Given the description of an element on the screen output the (x, y) to click on. 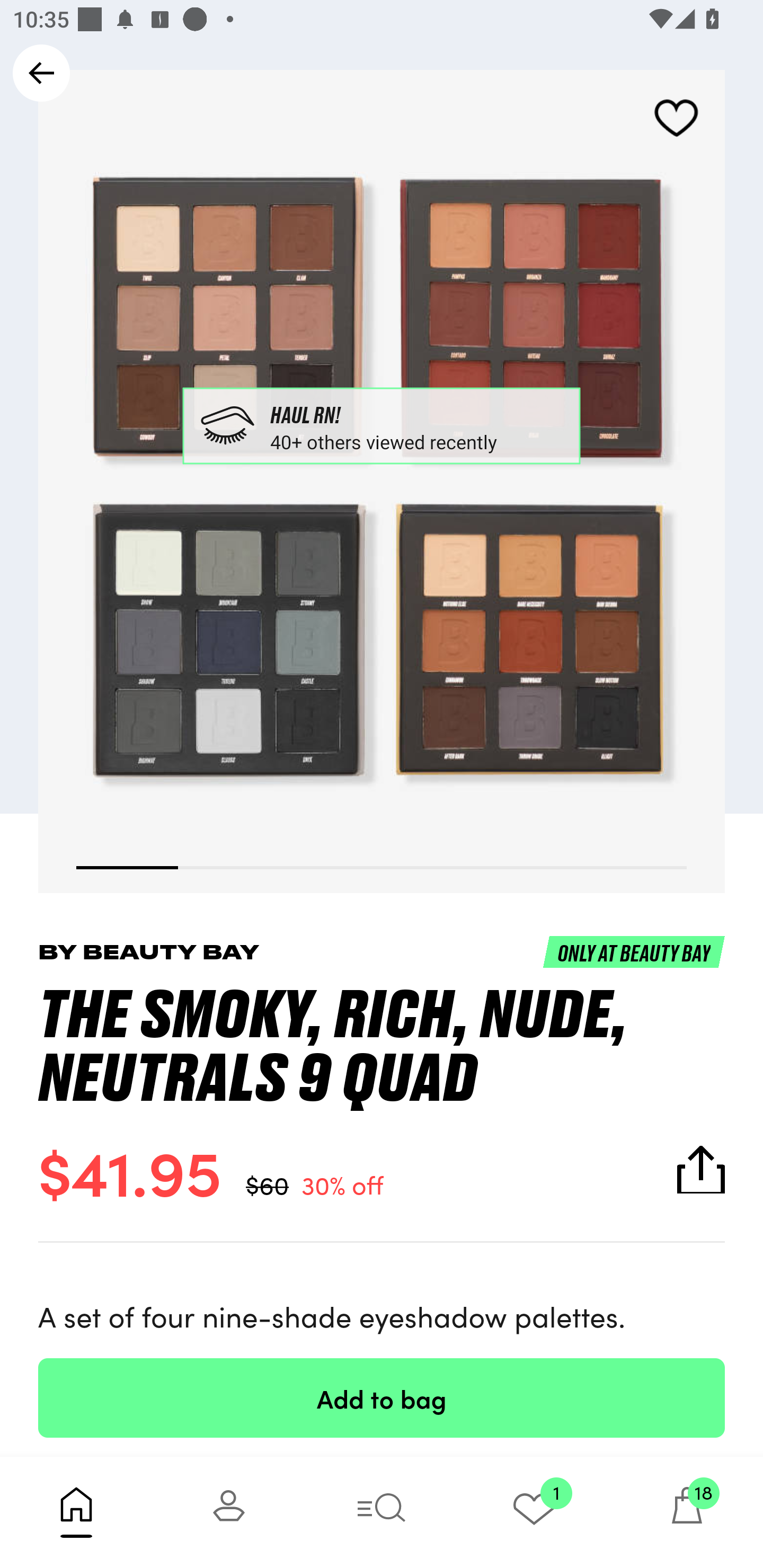
Add to bag (381, 1397)
1 (533, 1512)
18 (686, 1512)
